Given the description of an element on the screen output the (x, y) to click on. 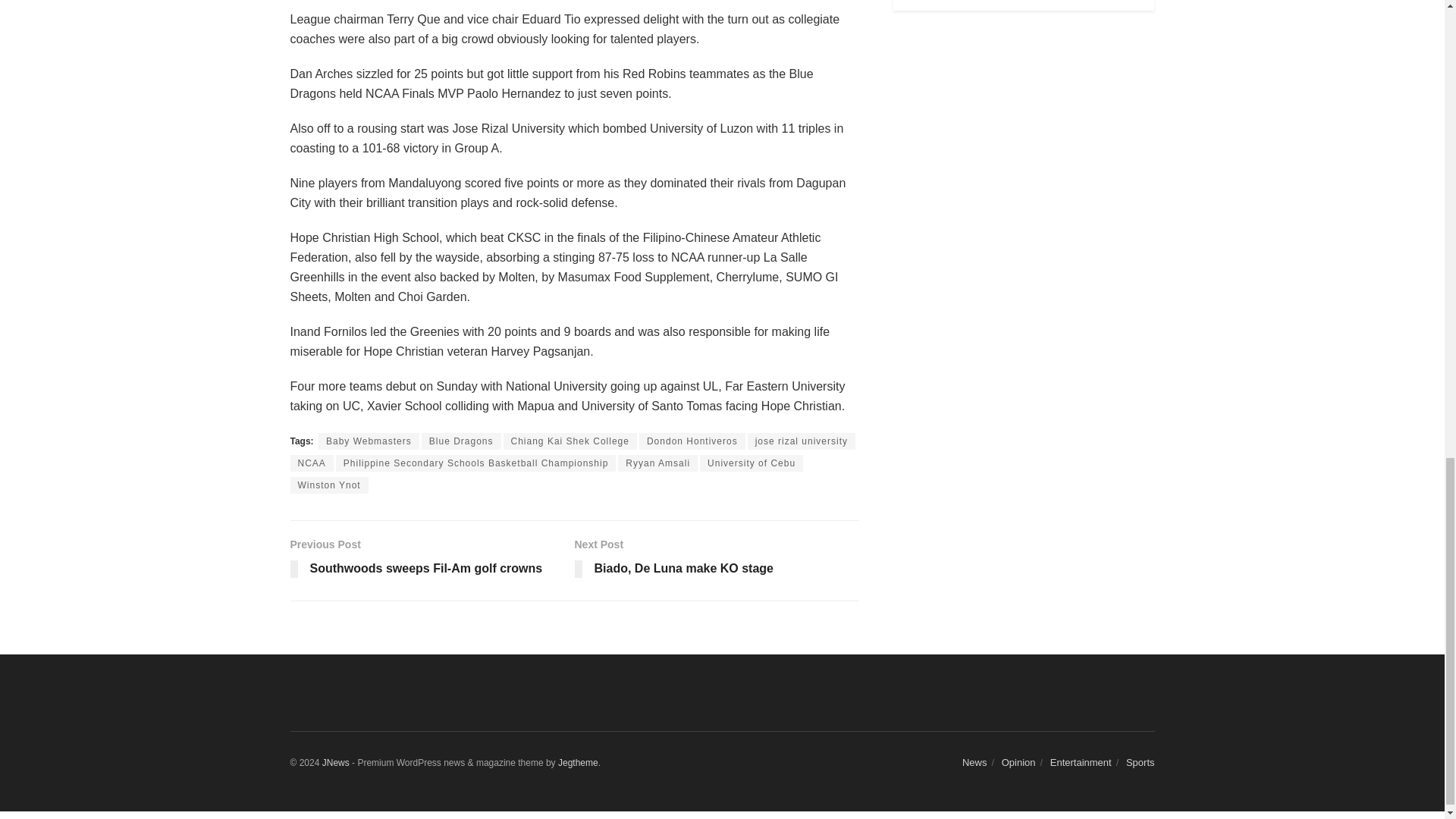
Winston Ynot (328, 484)
Chiang Kai Shek College (570, 441)
Ryyan Amsali (657, 463)
Philippine Secondary Schools Basketball Championship (431, 560)
Dondon Hontiveros (475, 463)
Blue Dragons (692, 441)
University of Cebu (461, 441)
Jegtheme (751, 463)
Baby Webmasters (577, 762)
